Given the description of an element on the screen output the (x, y) to click on. 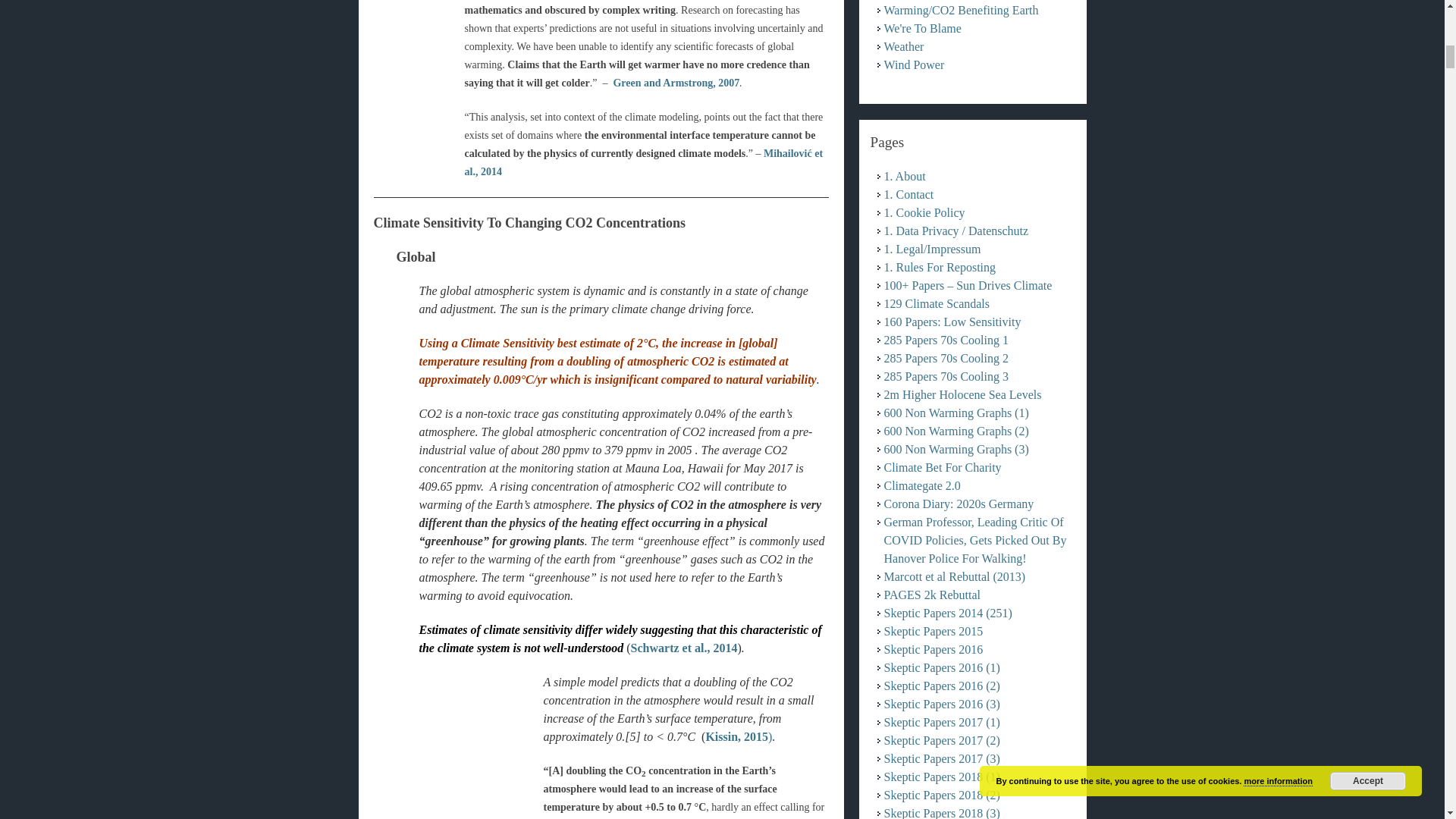
Advertisement (457, 750)
Kissin, 2015 (736, 736)
Green and Armstrong, 2007 (675, 82)
Schwartz et al., 2014 (684, 647)
